Given the description of an element on the screen output the (x, y) to click on. 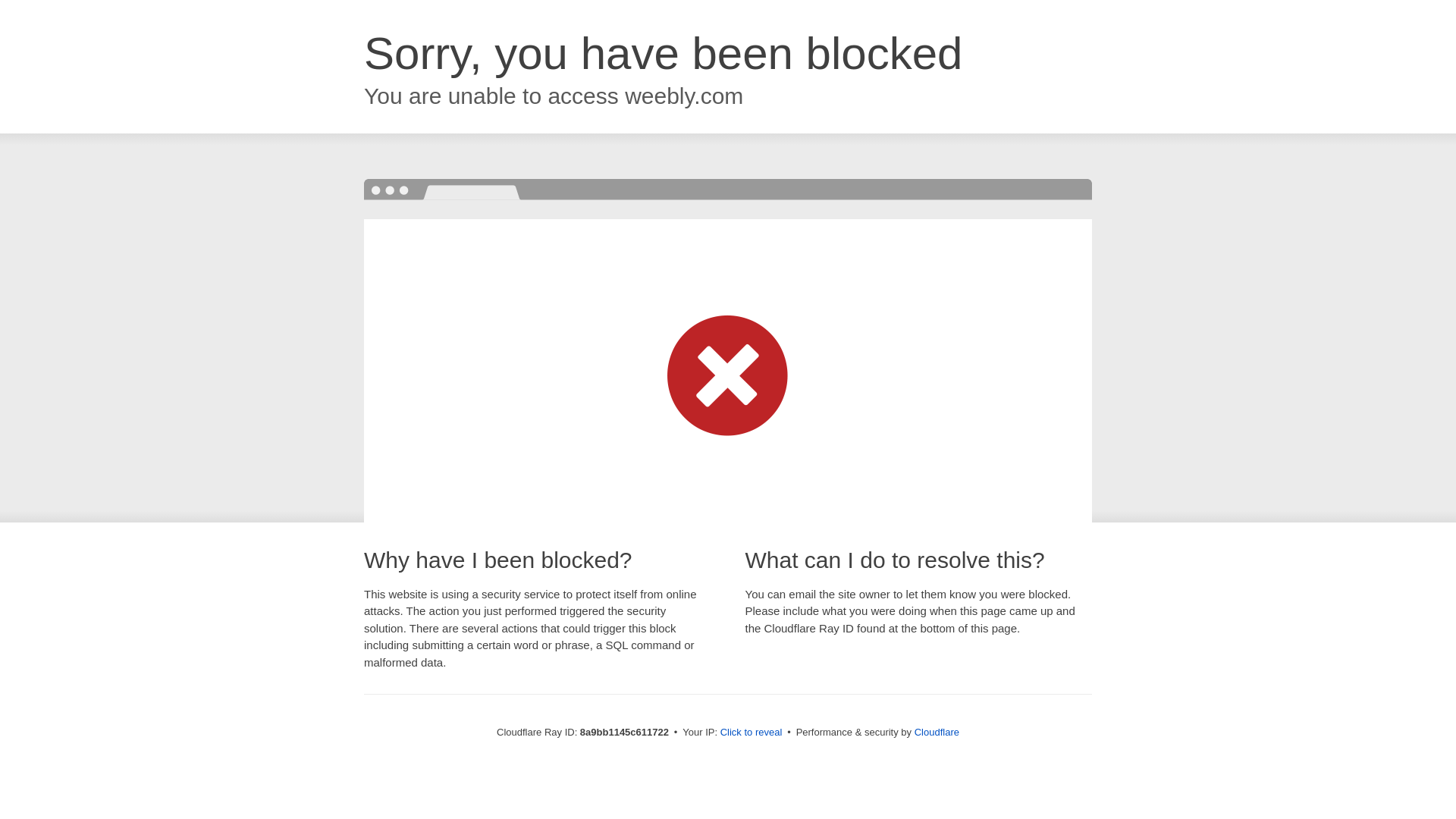
Cloudflare (936, 731)
Click to reveal (751, 732)
